Given the description of an element on the screen output the (x, y) to click on. 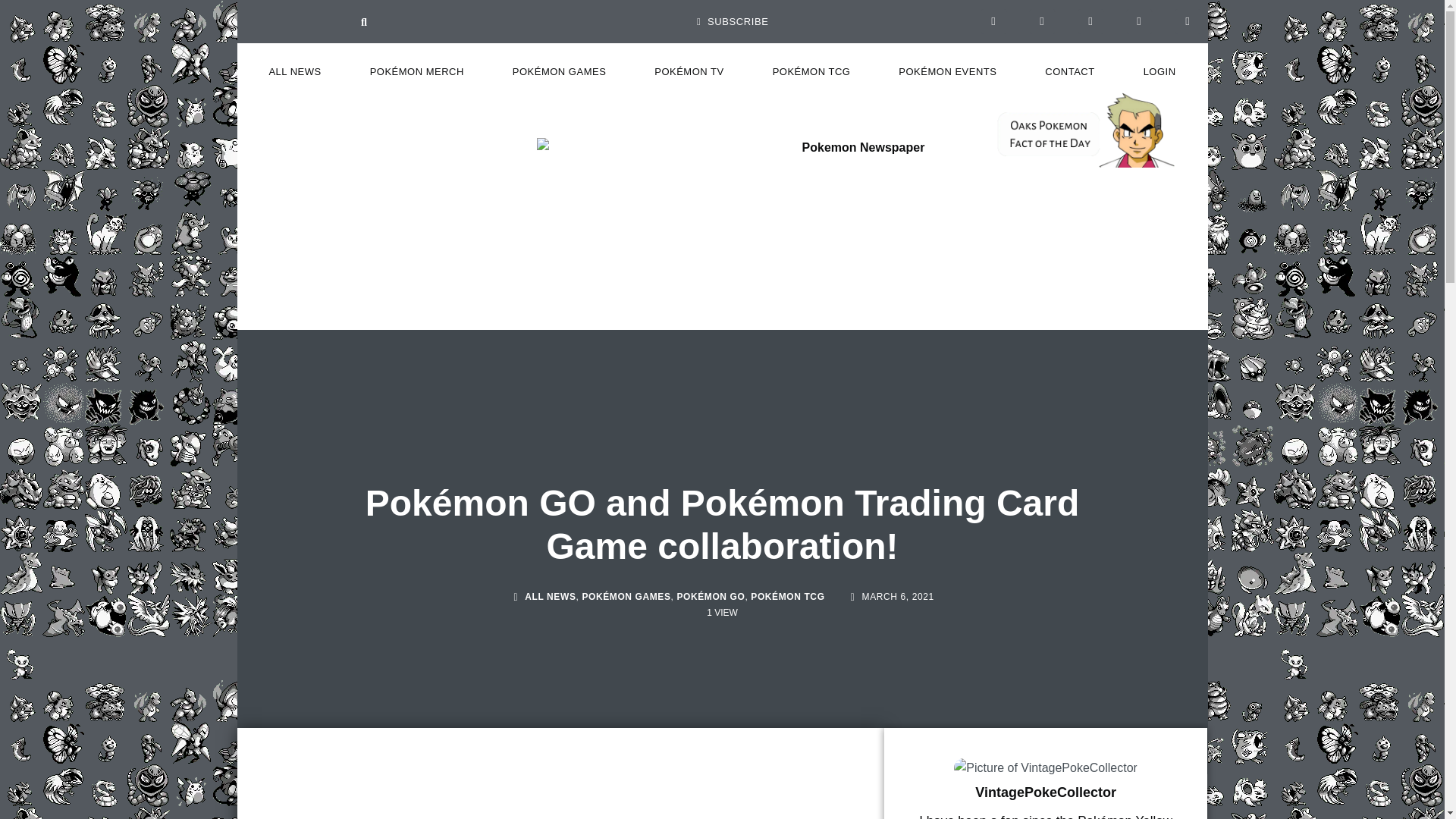
CONTACT (1069, 71)
ALL NEWS (294, 71)
LOGIN (1159, 71)
SUBSCRIBE (731, 21)
